Given the description of an element on the screen output the (x, y) to click on. 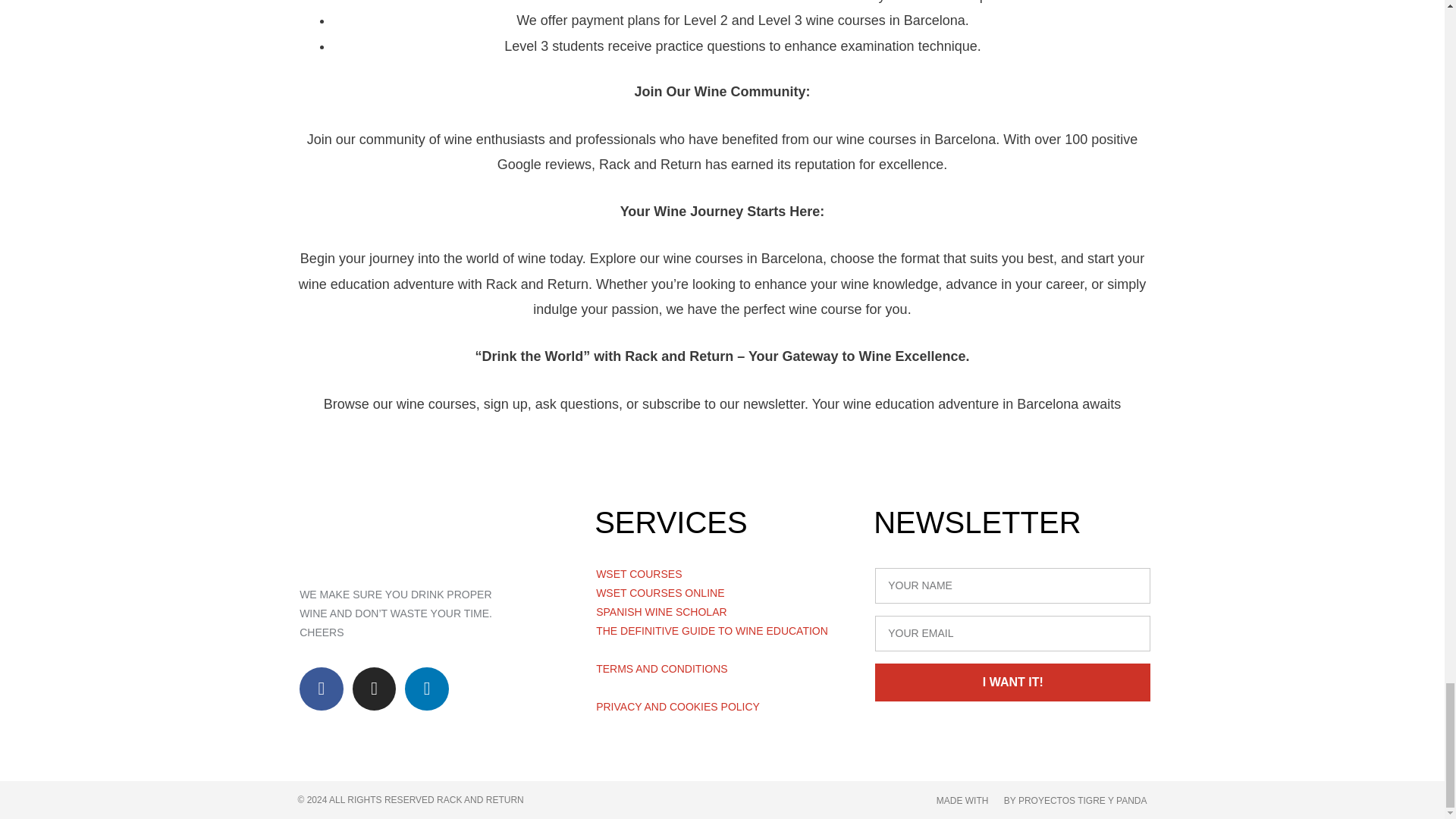
Instagram (374, 689)
Facebook-f (321, 689)
Linkedin-in (426, 689)
